Given the description of an element on the screen output the (x, y) to click on. 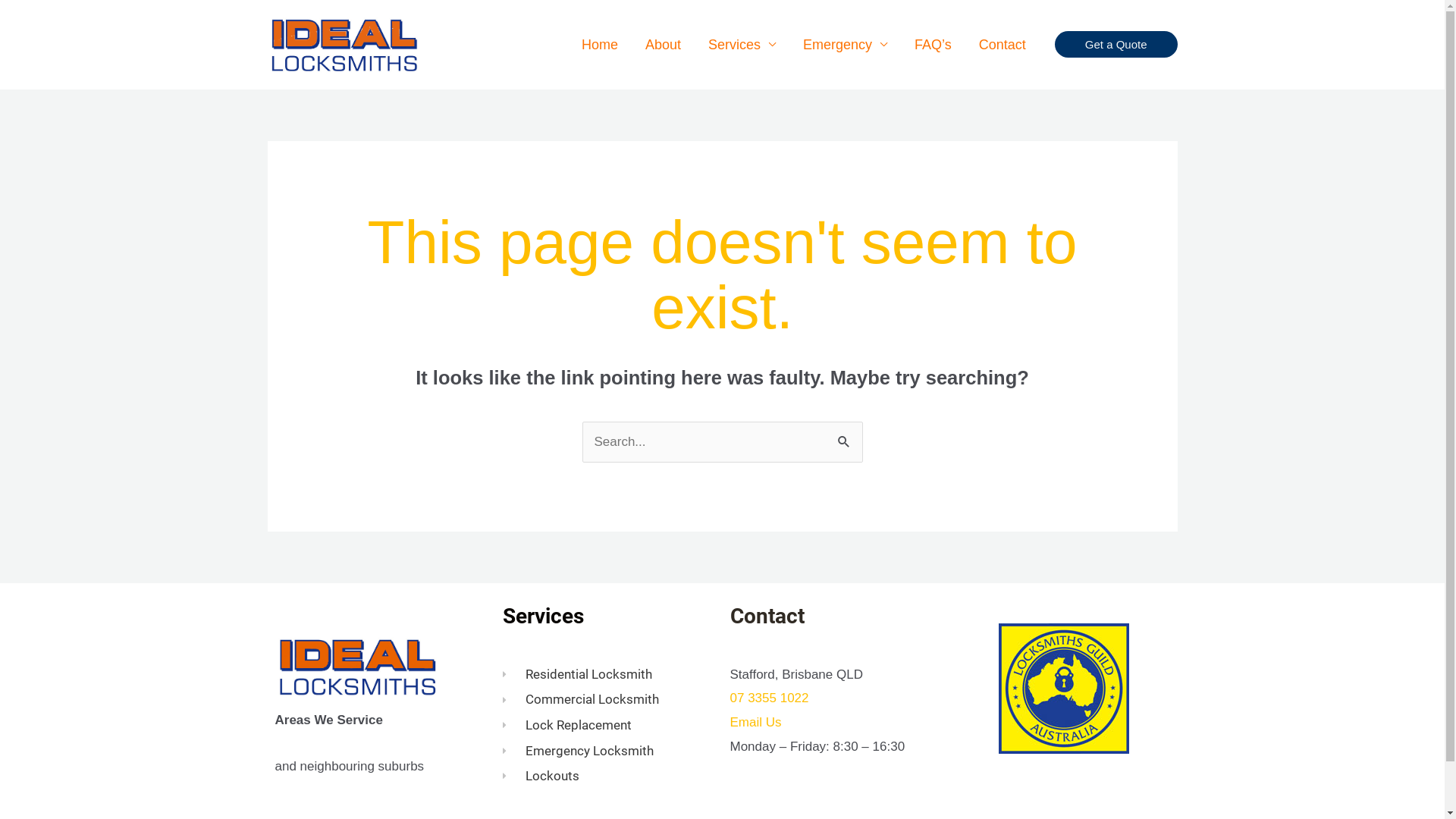
Emergency Locksmith Element type: text (608, 751)
Search Element type: text (845, 437)
Services Element type: text (741, 44)
07 3355 1022 Element type: text (768, 697)
Commercial Locksmith Element type: text (608, 699)
Email Us Element type: text (755, 722)
Contact Element type: text (1002, 44)
Residential Locksmith Element type: text (608, 674)
Home Element type: text (599, 44)
Emergency Element type: text (844, 44)
Lockouts Element type: text (608, 776)
Lock Replacement Element type: text (608, 725)
Get a Quote Element type: text (1115, 44)
About Element type: text (662, 44)
